Given the description of an element on the screen output the (x, y) to click on. 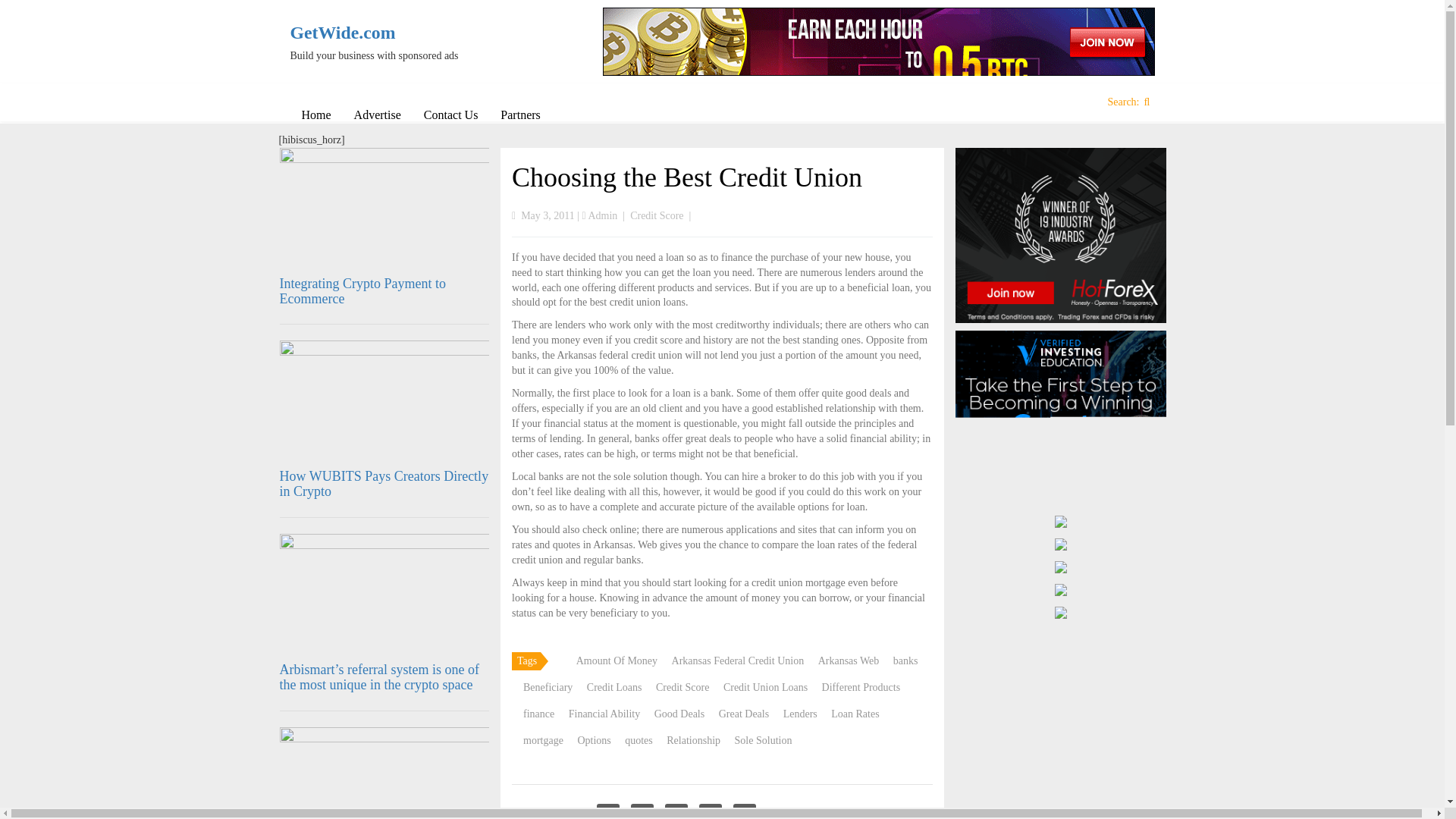
Advertise (377, 115)
Contact Us (450, 115)
Share on Facebook (608, 811)
Partners (520, 115)
How WUBITS Pays Creators Directly in Crypto (383, 483)
Integrating Crypto Payment to Ecommerce (362, 291)
Admin (602, 215)
GetWide.com (389, 32)
Choosing the Best Credit Union (686, 177)
Posts by Admin (602, 215)
